Given the description of an element on the screen output the (x, y) to click on. 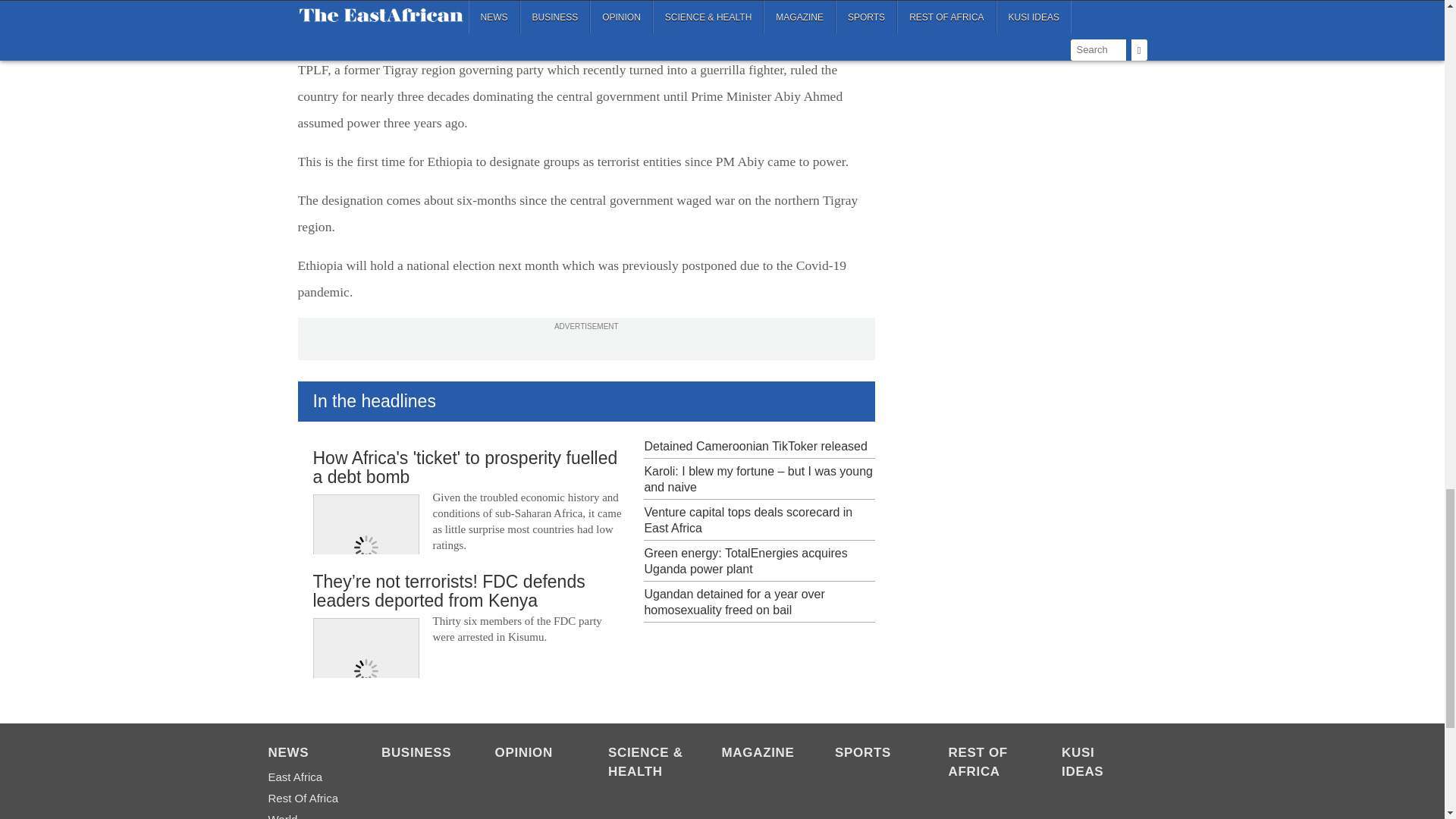
Rest of Africa (306, 798)
Sports (873, 754)
Magazine (760, 754)
Rest of Africa (987, 763)
News (306, 754)
Opinion (533, 754)
World (306, 814)
East Africa (306, 776)
KUSI IDEAS (1099, 763)
Business (419, 754)
